Given the description of an element on the screen output the (x, y) to click on. 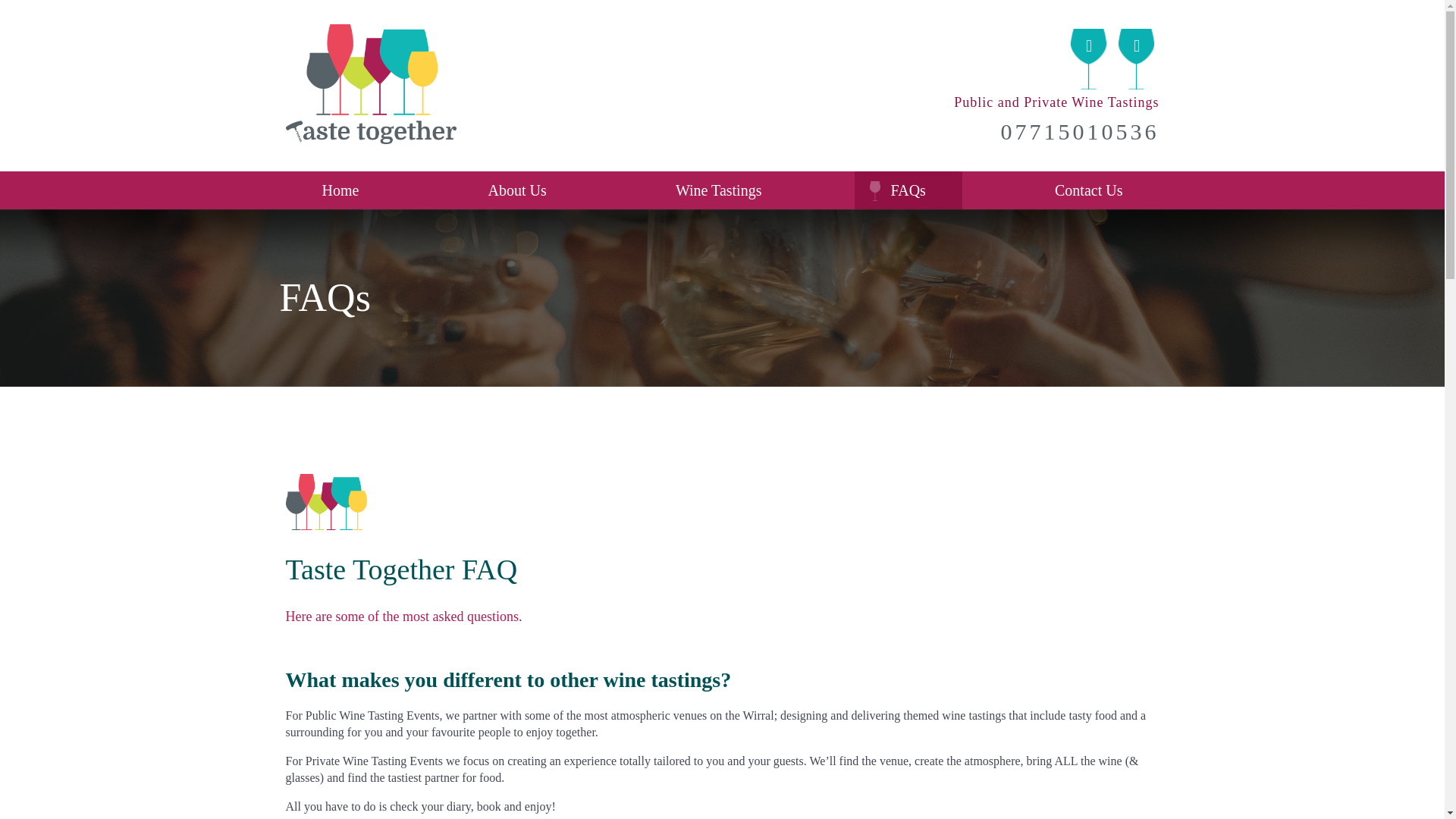
About Us (517, 190)
07715010536 (1079, 131)
Wine Tastings (718, 190)
Contact Us (1087, 190)
Home (339, 190)
FAQs (908, 190)
